Given the description of an element on the screen output the (x, y) to click on. 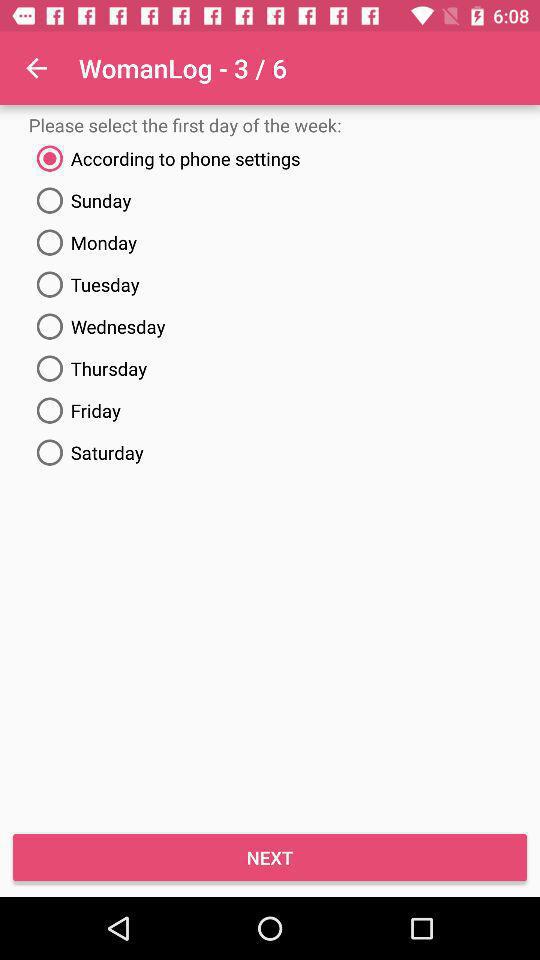
open item to the left of womanlog - 3 / 6 (36, 68)
